Given the description of an element on the screen output the (x, y) to click on. 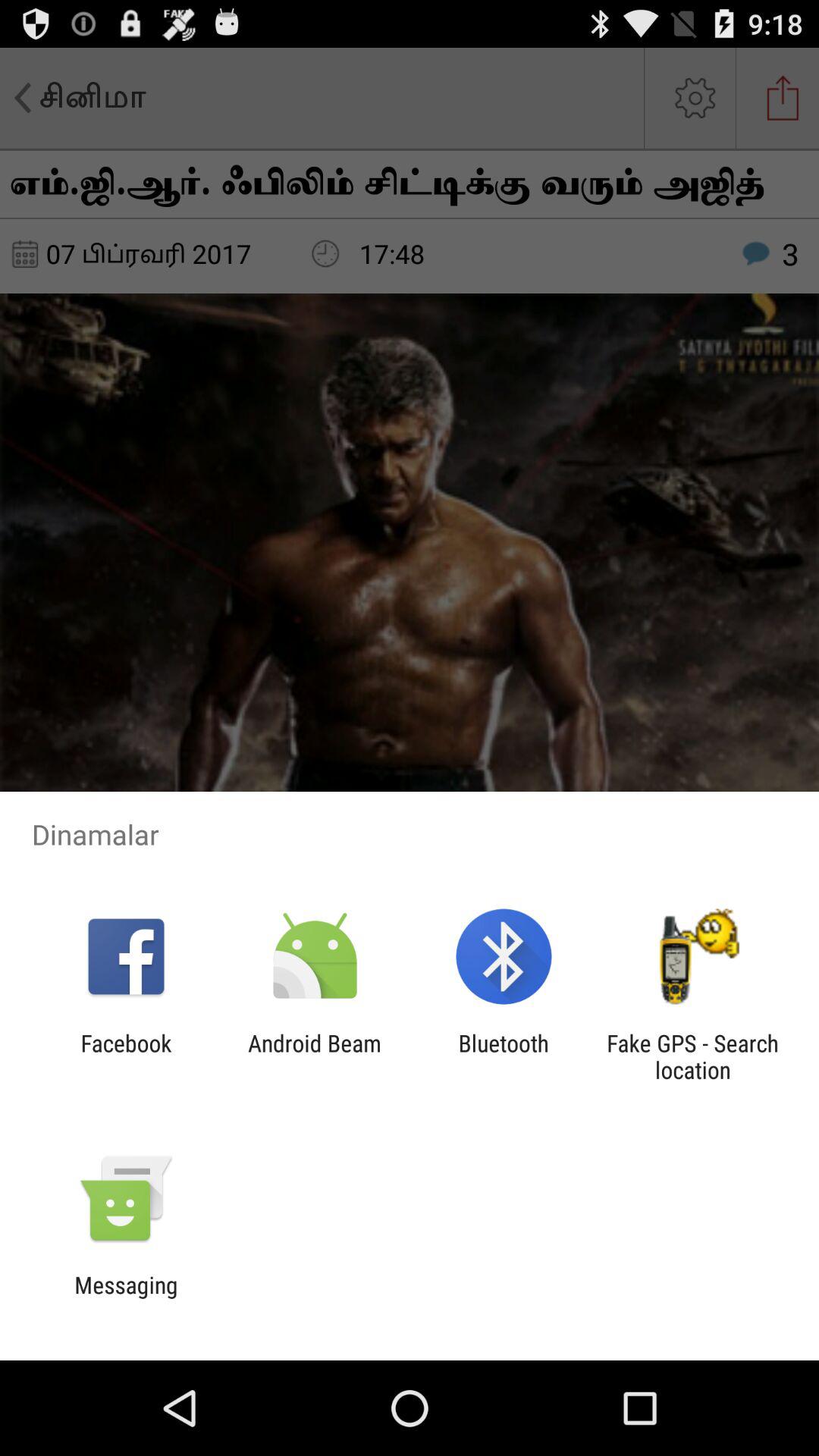
select the item next to the bluetooth item (692, 1056)
